Given the description of an element on the screen output the (x, y) to click on. 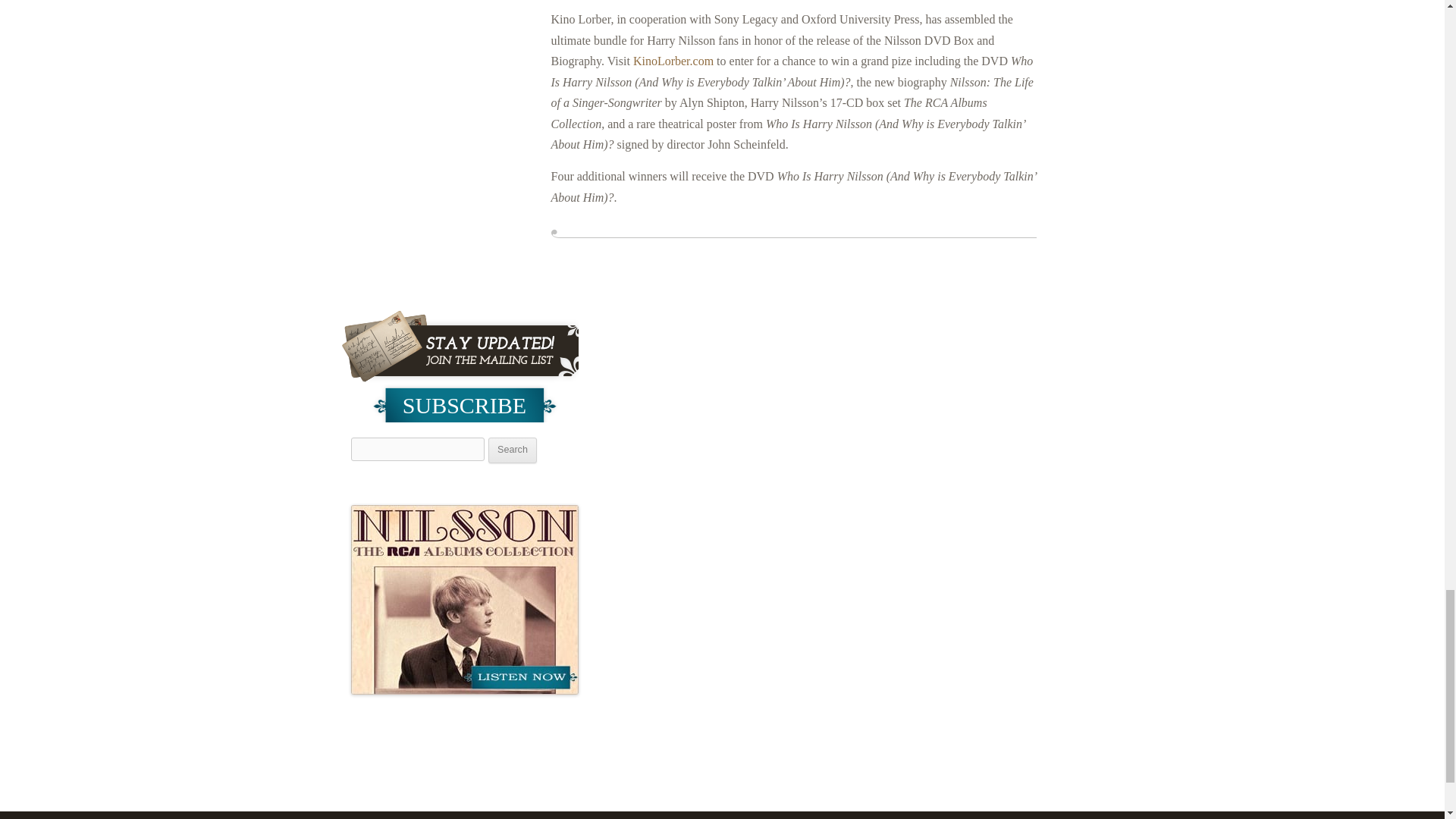
KinoLorber.com (673, 60)
Search (512, 450)
SUBSCRIBE (464, 402)
Search (512, 450)
Stay Updated! (459, 346)
